Given the description of an element on the screen output the (x, y) to click on. 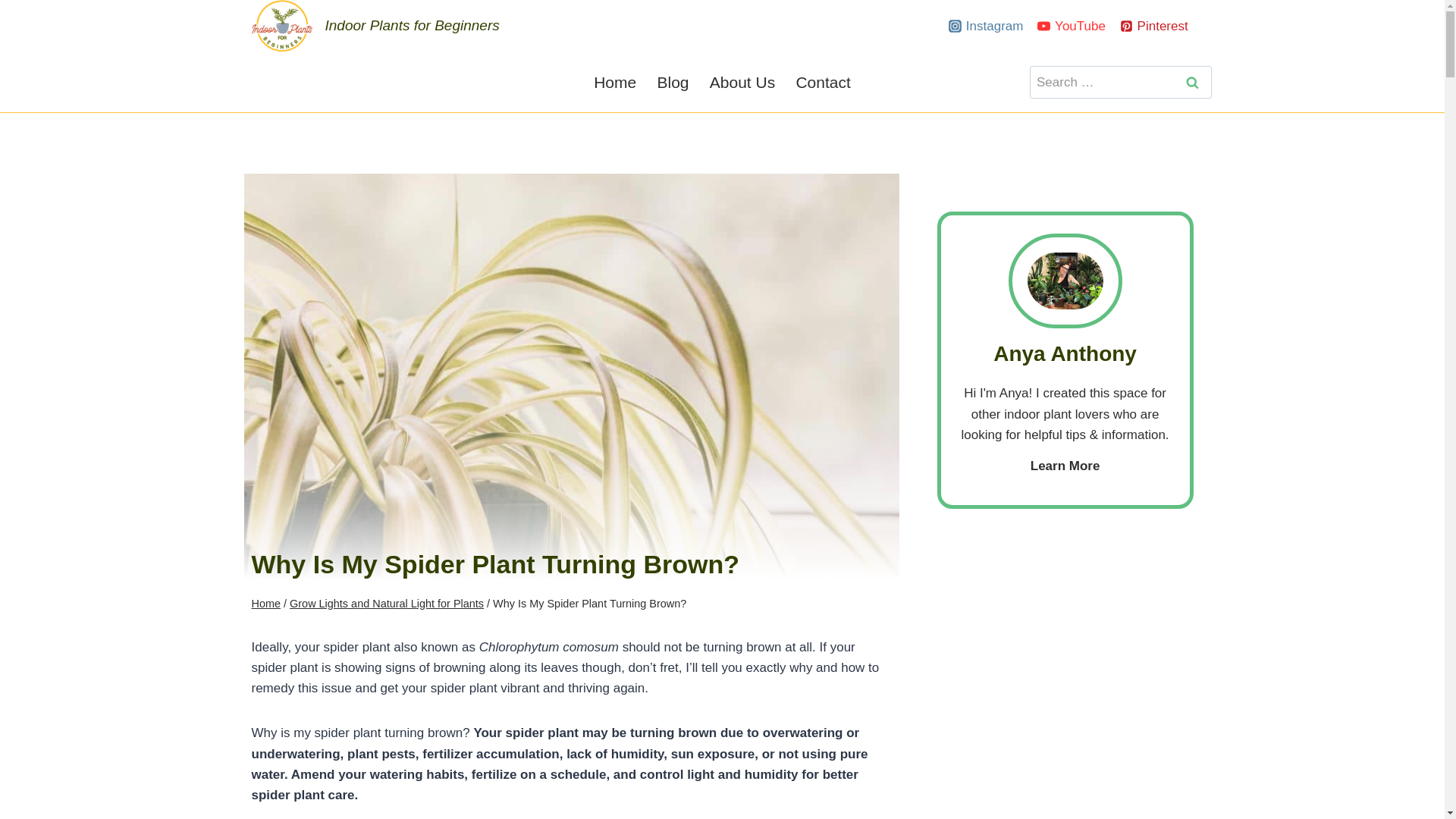
YouTube (1070, 25)
Pinterest (1154, 25)
Indoor Plants for Beginners (375, 25)
Search (1192, 82)
Contact (823, 82)
Blog (672, 82)
Grow Lights and Natural Light for Plants (386, 603)
Home (614, 82)
Home (266, 603)
About Us (742, 82)
Search (1192, 82)
Instagram (985, 25)
Search (1192, 82)
